Given the description of an element on the screen output the (x, y) to click on. 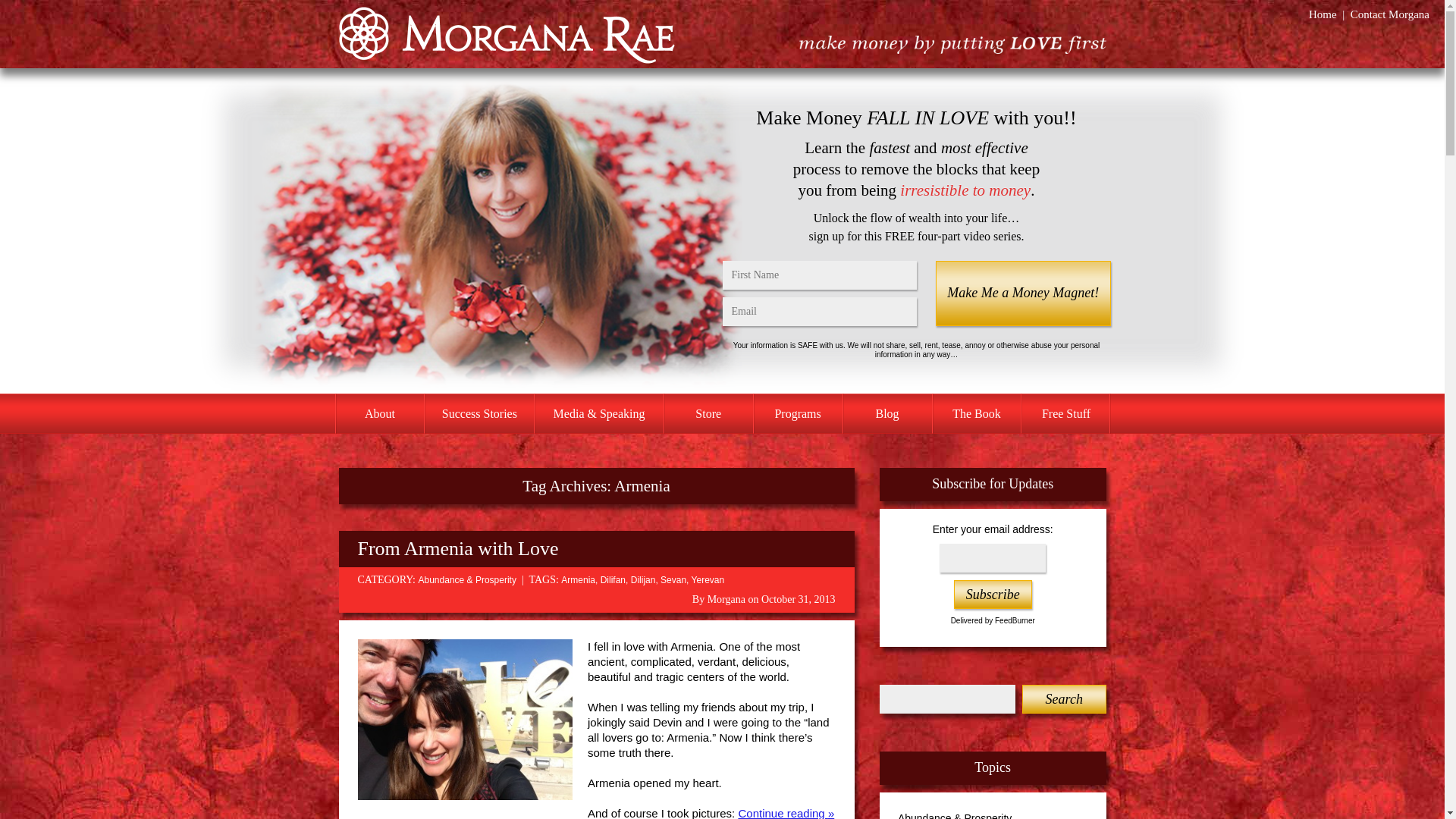
Home (1322, 14)
Free Stuff (1065, 413)
Contact Morgana (1390, 14)
Success Stories (479, 413)
Posts by Morgana (726, 599)
Make Me a Money Magnet! (1022, 293)
Subscribe (992, 594)
Programs (798, 413)
Store (707, 413)
Permalink to From Armenia with Love (458, 548)
